Given the description of an element on the screen output the (x, y) to click on. 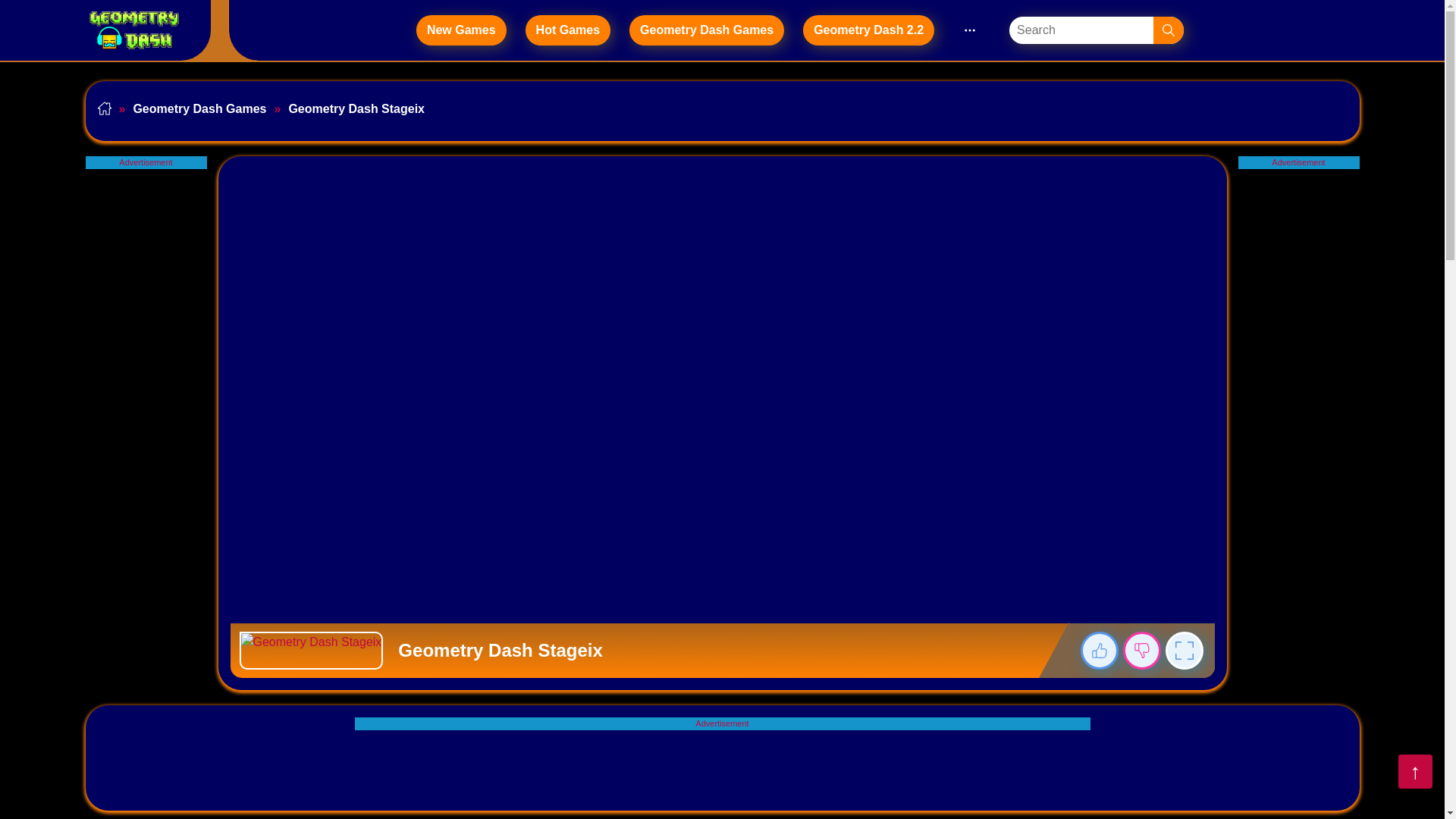
Geometry Dash Games (706, 30)
Geometry Dash Full Version (135, 30)
New Games (461, 30)
Hot Games (567, 30)
Hot Games (567, 30)
Geometry Dash Games (706, 30)
list-menu (969, 29)
Geometry Dash 2.2 (868, 30)
Geometry Dash Full Version (133, 30)
Geometry Dash 2.2 (868, 30)
